Given the description of an element on the screen output the (x, y) to click on. 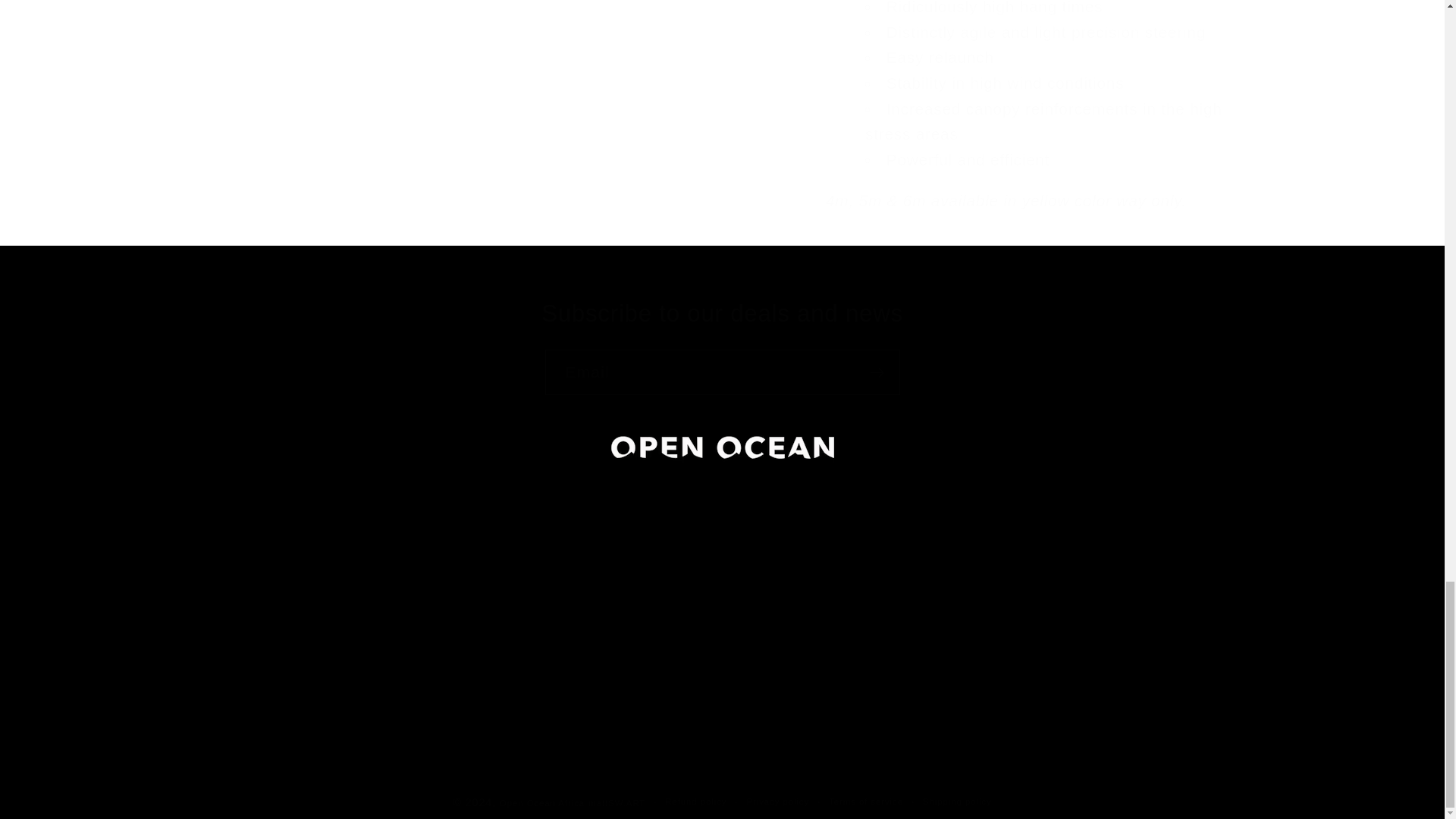
Email (721, 372)
Subscribe to our deals and news (721, 314)
Page 10 (1045, 86)
